Given the description of an element on the screen output the (x, y) to click on. 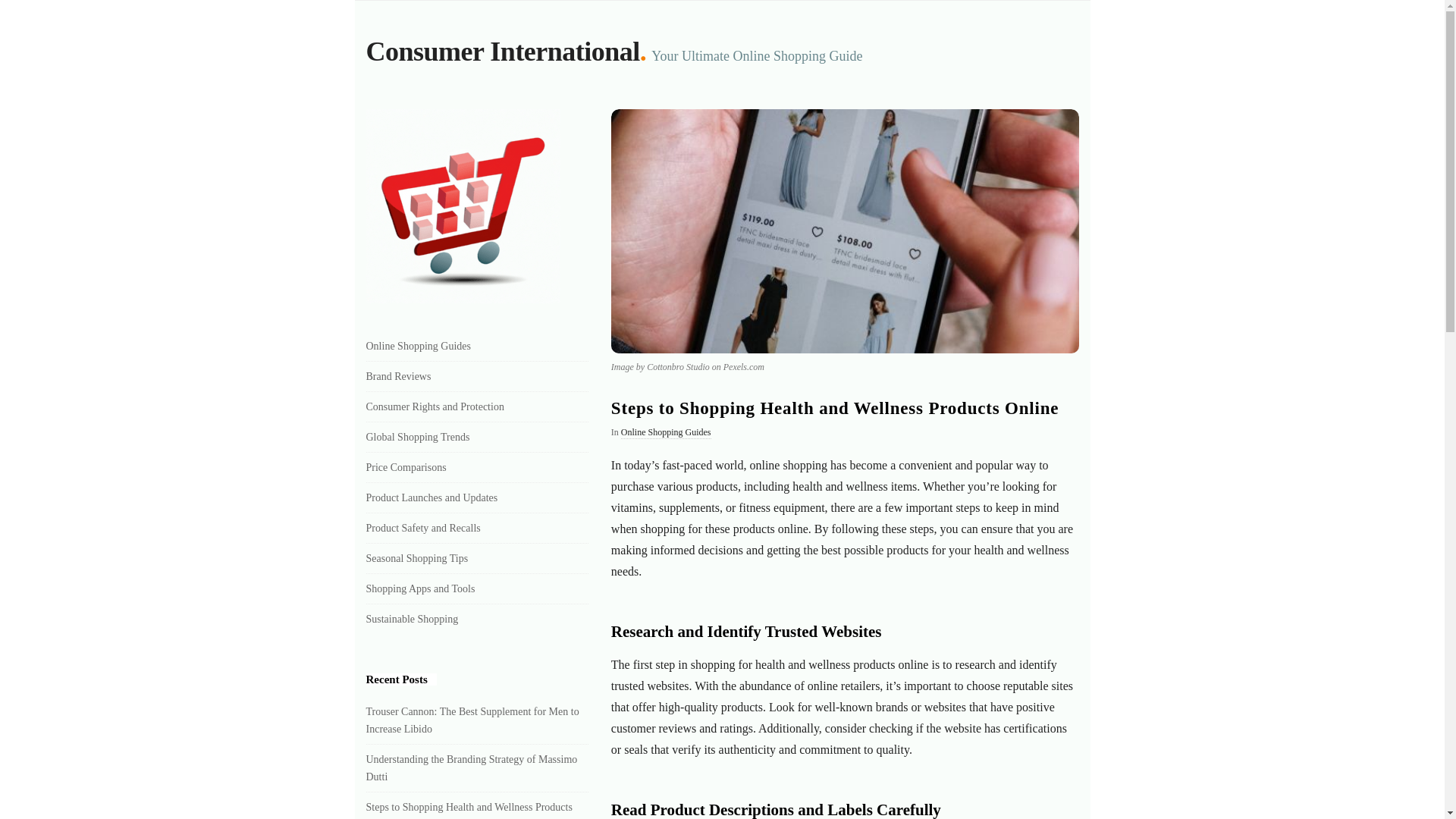
Global Shopping Trends (416, 437)
Seasonal Shopping Tips (416, 558)
Product Launches and Updates (431, 497)
Consumer Rights and Protection (434, 406)
Online Shopping Guides (417, 346)
Price Comparisons (405, 467)
Online Shopping Guides (666, 432)
Brand Reviews (397, 376)
Product Safety and Recalls (422, 527)
Understanding the Branding Strategy of Massimo Dutti (470, 767)
Shopping Apps and Tools (419, 588)
Steps to Shopping Health and Wellness Products Online (468, 810)
Sustainable Shopping (411, 618)
